Given the description of an element on the screen output the (x, y) to click on. 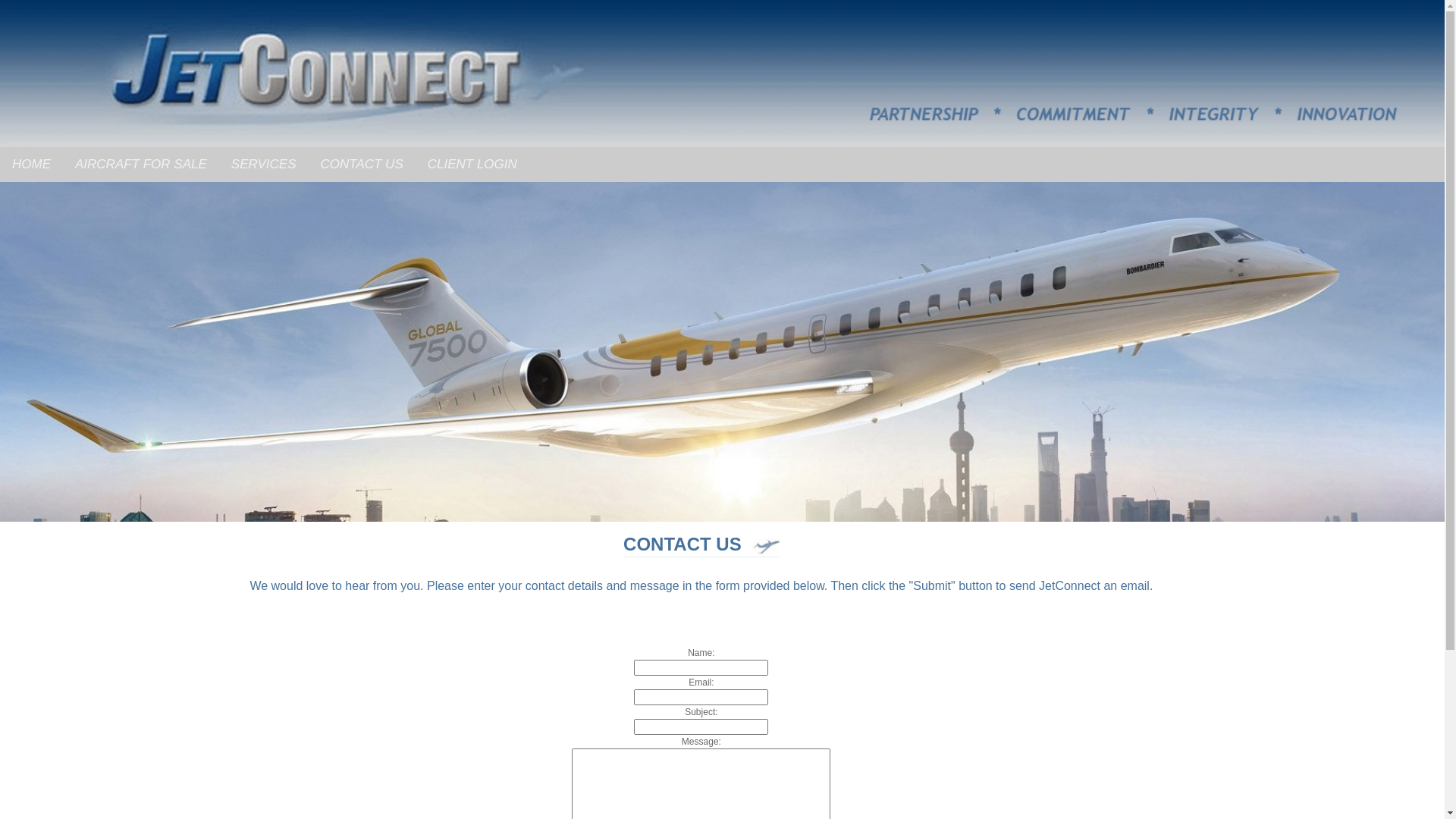
AIRCRAFT FOR SALE Element type: text (140, 164)
CONTACT US Element type: text (360, 164)
HOME Element type: text (31, 164)
CLIENT LOGIN Element type: text (472, 164)
SERVICES Element type: text (263, 164)
